Given the description of an element on the screen output the (x, y) to click on. 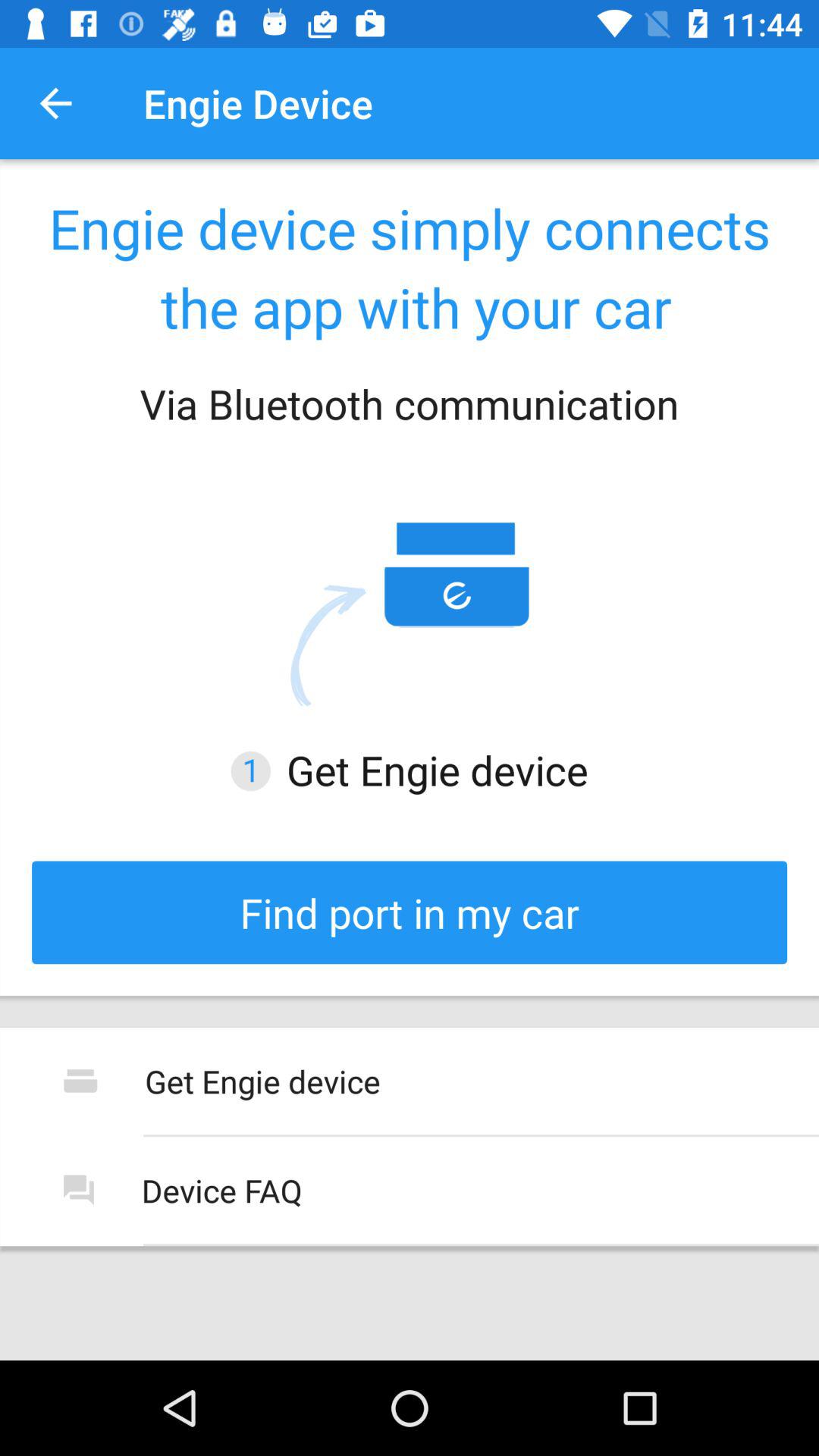
flip until find port in icon (409, 912)
